Given the description of an element on the screen output the (x, y) to click on. 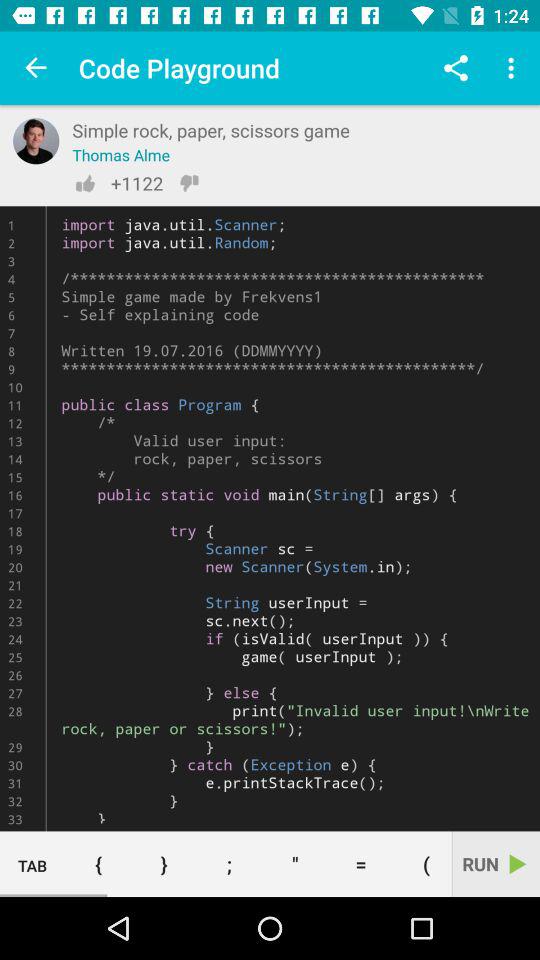
tap the button to the right of the } button (229, 863)
